Given the description of an element on the screen output the (x, y) to click on. 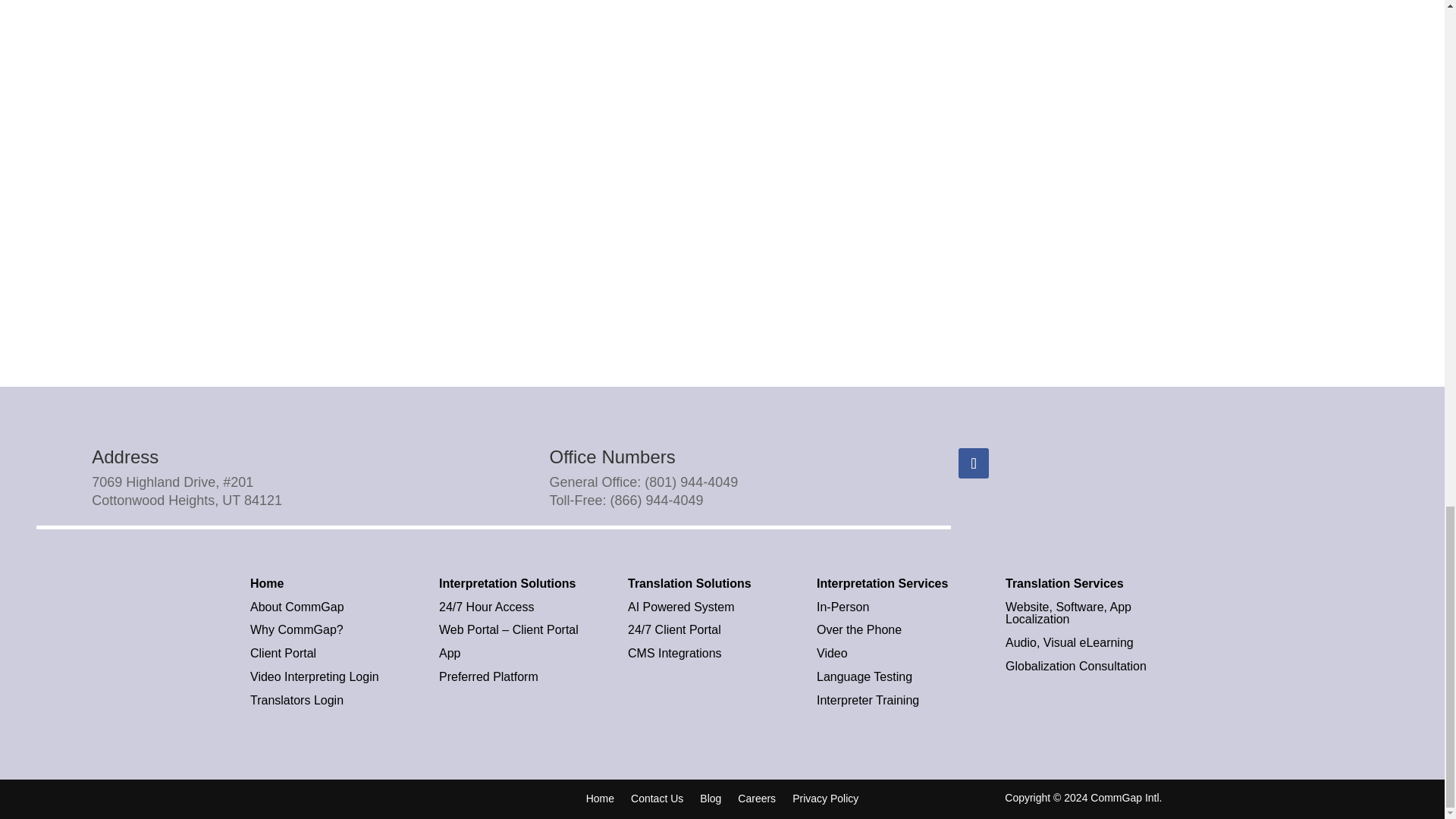
New-Commgap-Tagline-Logo-wtbg (338, 798)
Follow on LinkedIn (973, 462)
